Given the description of an element on the screen output the (x, y) to click on. 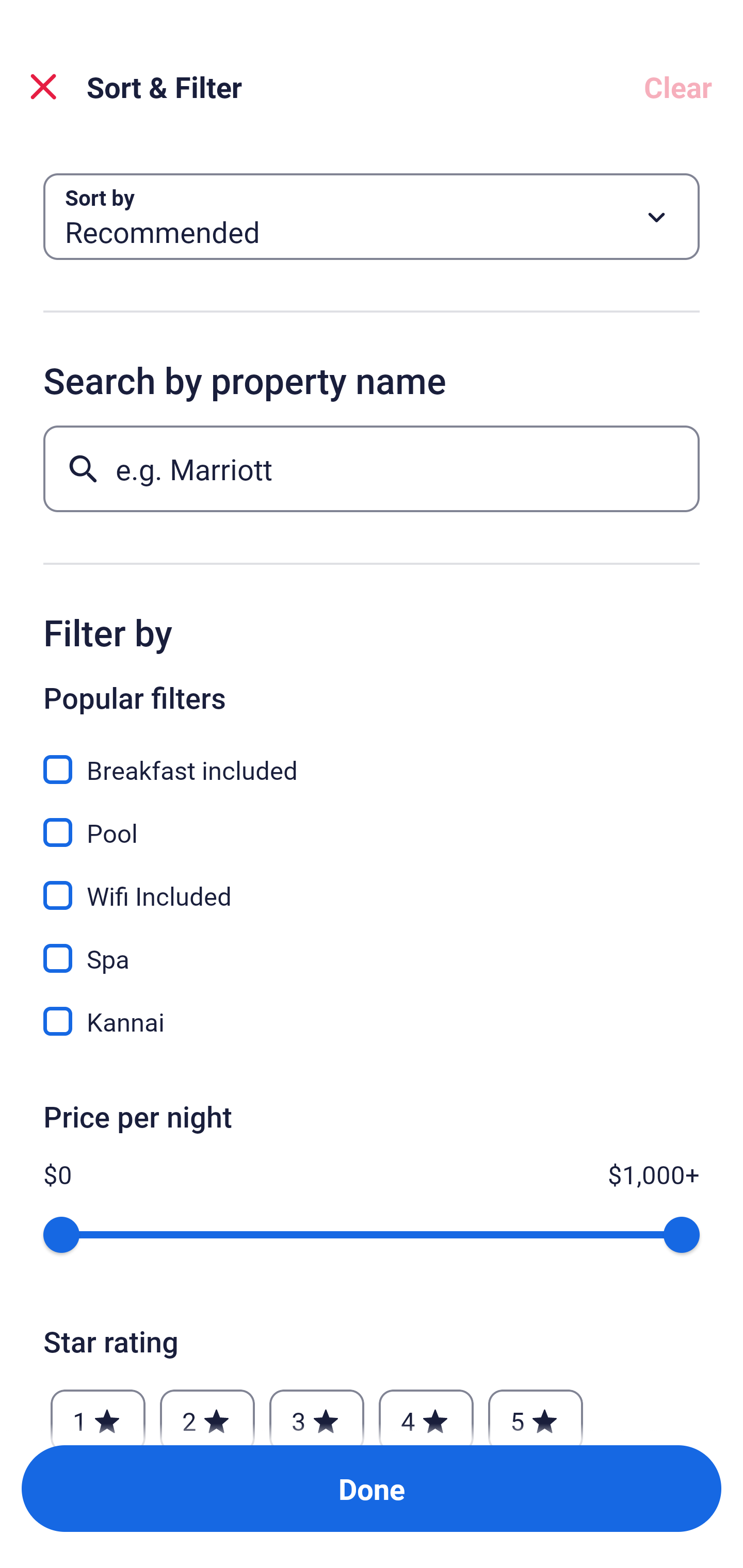
Close Sort and Filter (43, 86)
Clear (677, 86)
Sort by Button Recommended (371, 217)
e.g. Marriott Button (371, 468)
Breakfast included, Breakfast included (371, 757)
Pool, Pool (371, 821)
Wifi Included, Wifi Included (371, 883)
Spa, Spa (371, 946)
Kannai, Kannai (371, 1021)
1 (97, 1411)
2 (206, 1411)
3 (316, 1411)
4 (426, 1411)
5 (535, 1411)
Apply and close Sort and Filter Done (371, 1488)
